Given the description of an element on the screen output the (x, y) to click on. 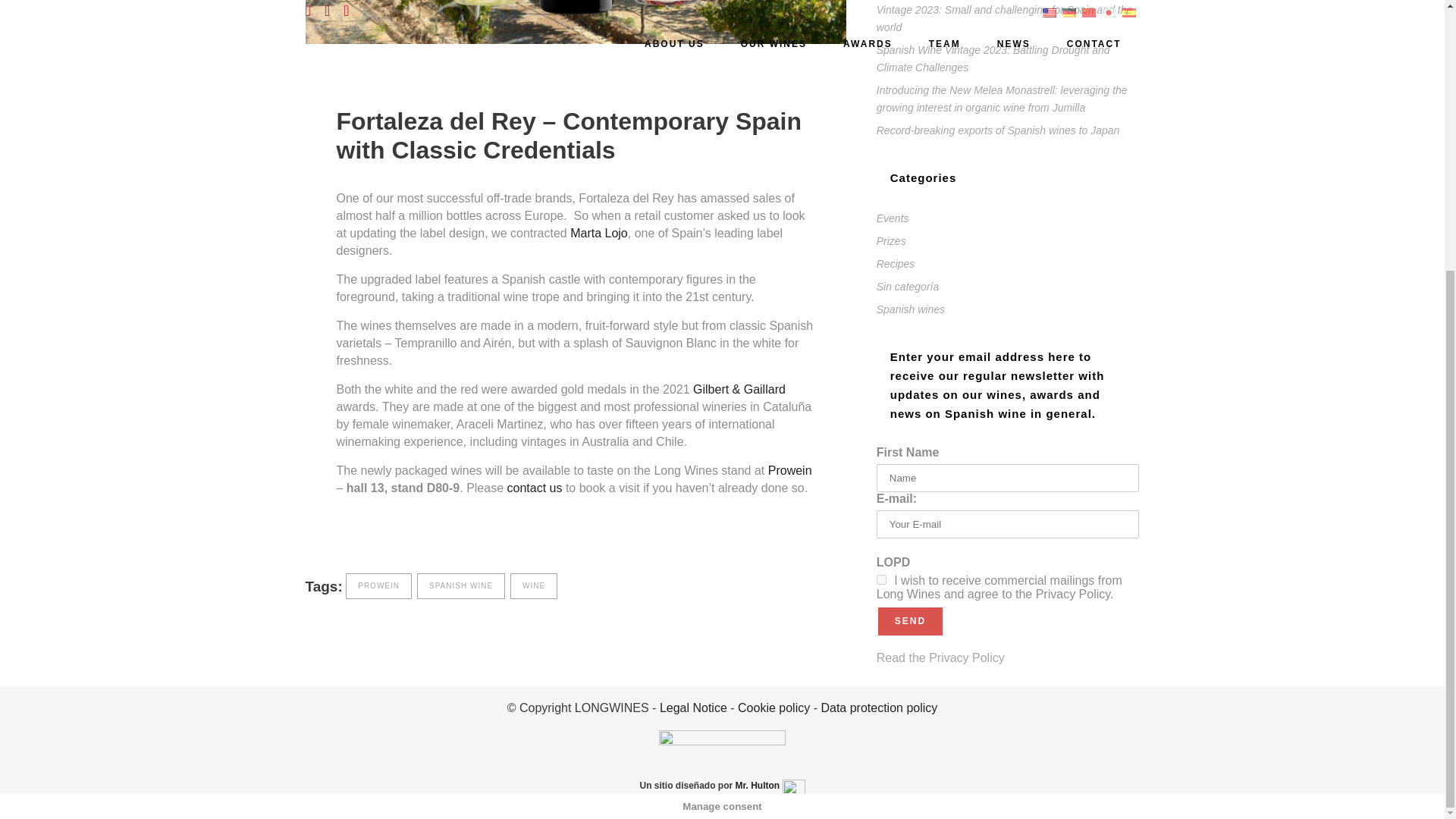
Send (909, 621)
1f353a1050 (881, 579)
